Given the description of an element on the screen output the (x, y) to click on. 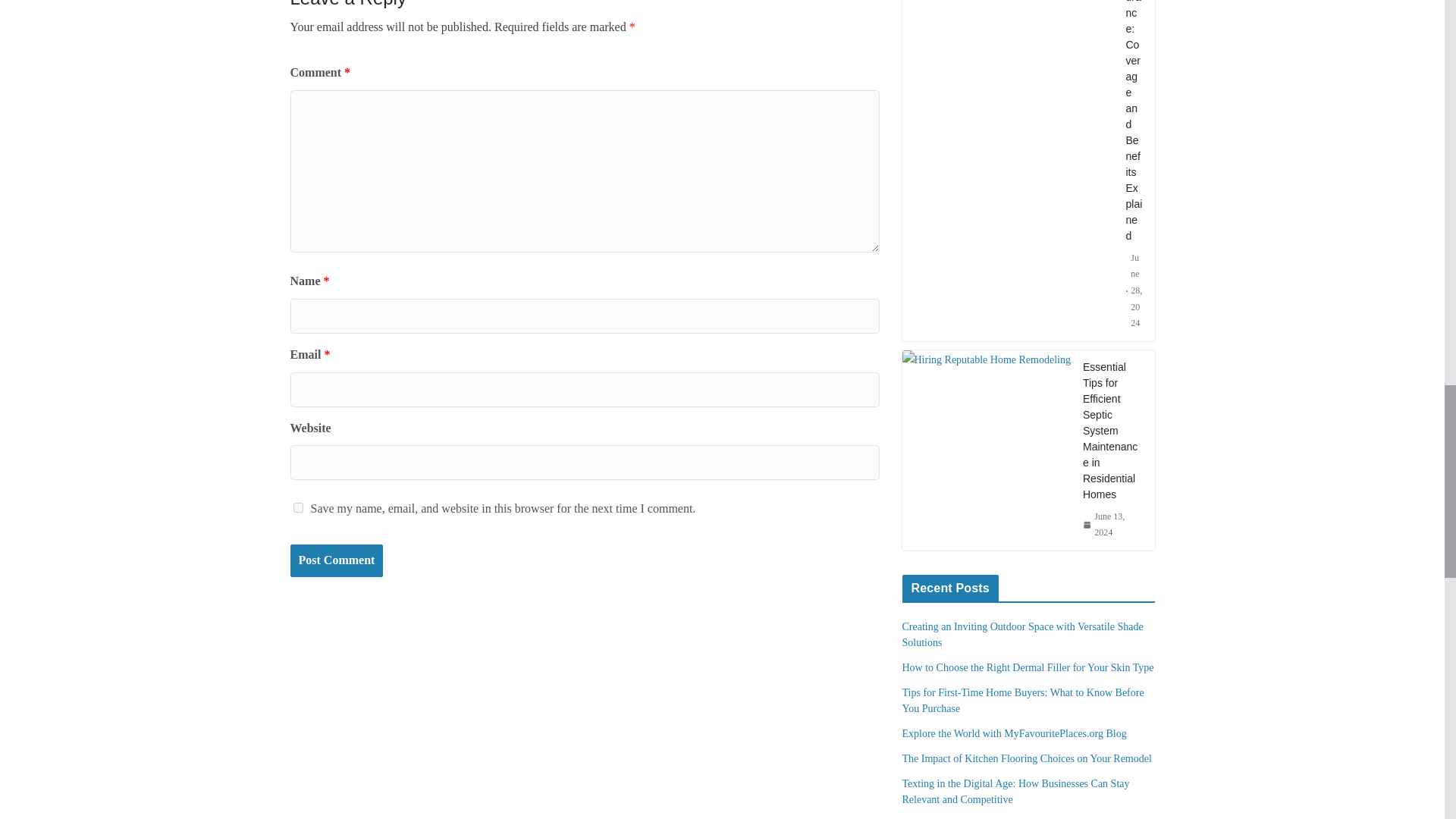
Post Comment (335, 560)
Post Comment (335, 560)
yes (297, 507)
